Given the description of an element on the screen output the (x, y) to click on. 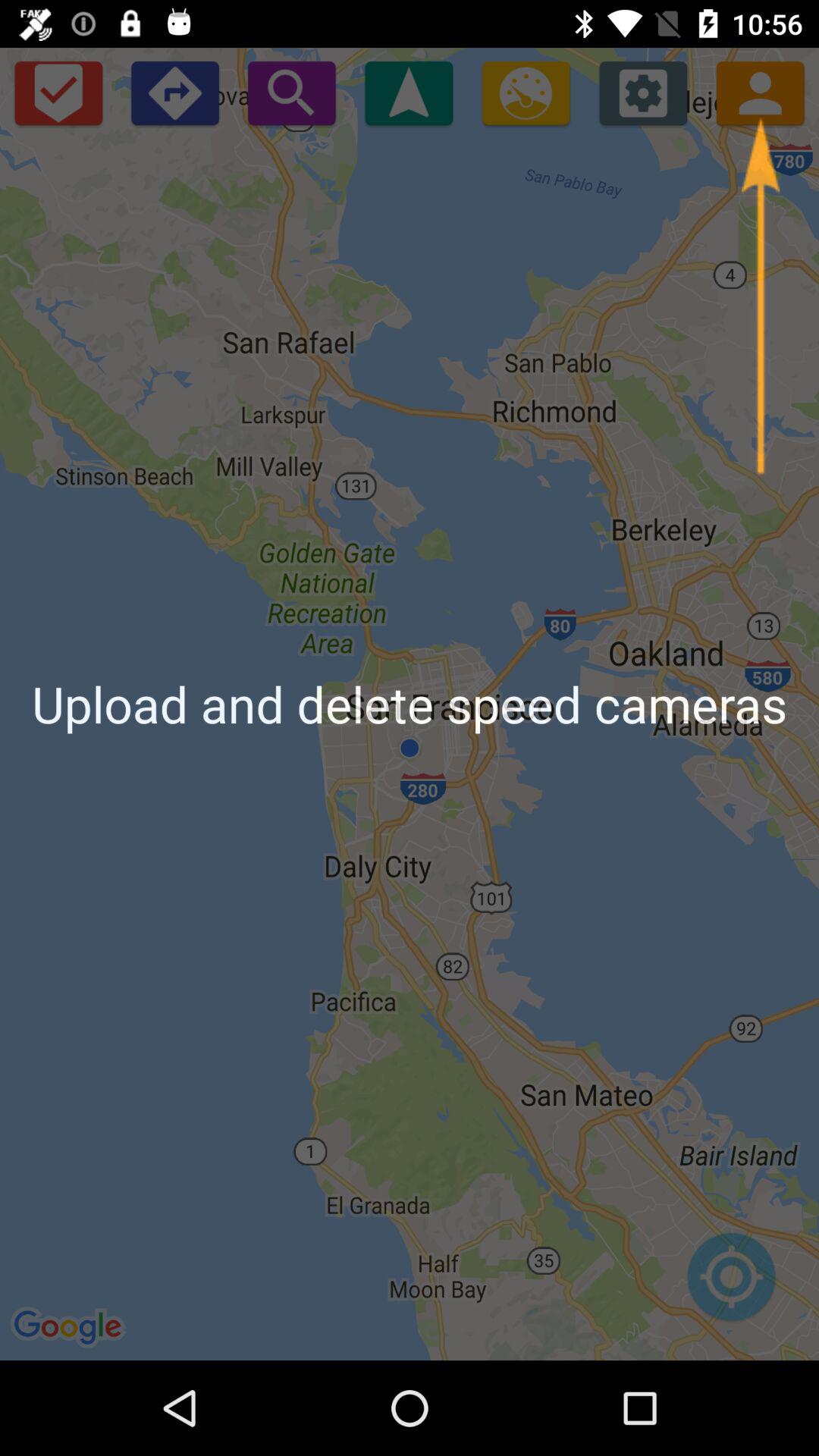
options (642, 92)
